Given the description of an element on the screen output the (x, y) to click on. 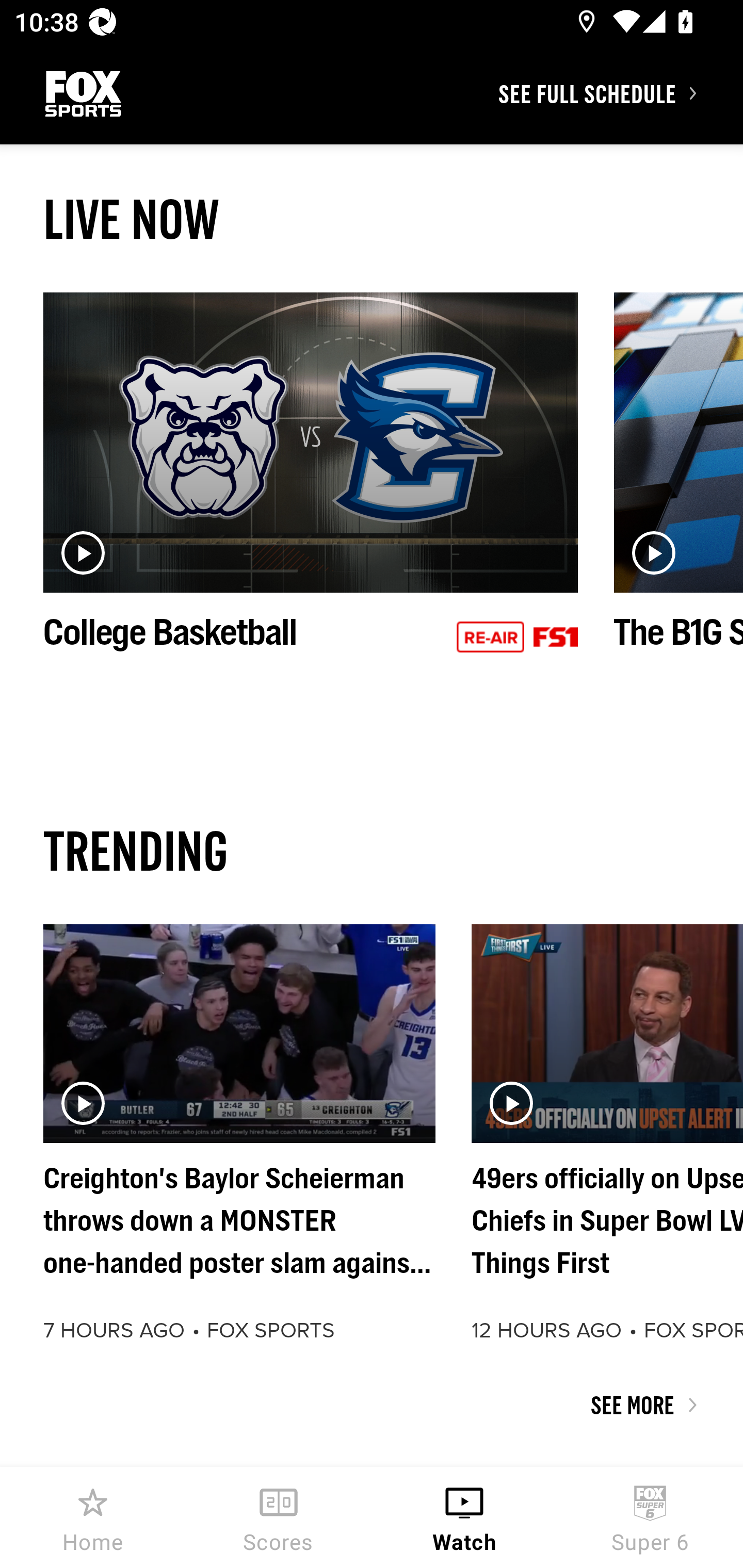
SEE FULL SCHEDULE (620, 93)
LIVE NOW (371, 218)
College Basketball (310, 494)
TRENDING (371, 850)
SEE MORE (371, 1404)
Home (92, 1517)
Scores (278, 1517)
Super 6 (650, 1517)
